Given the description of an element on the screen output the (x, y) to click on. 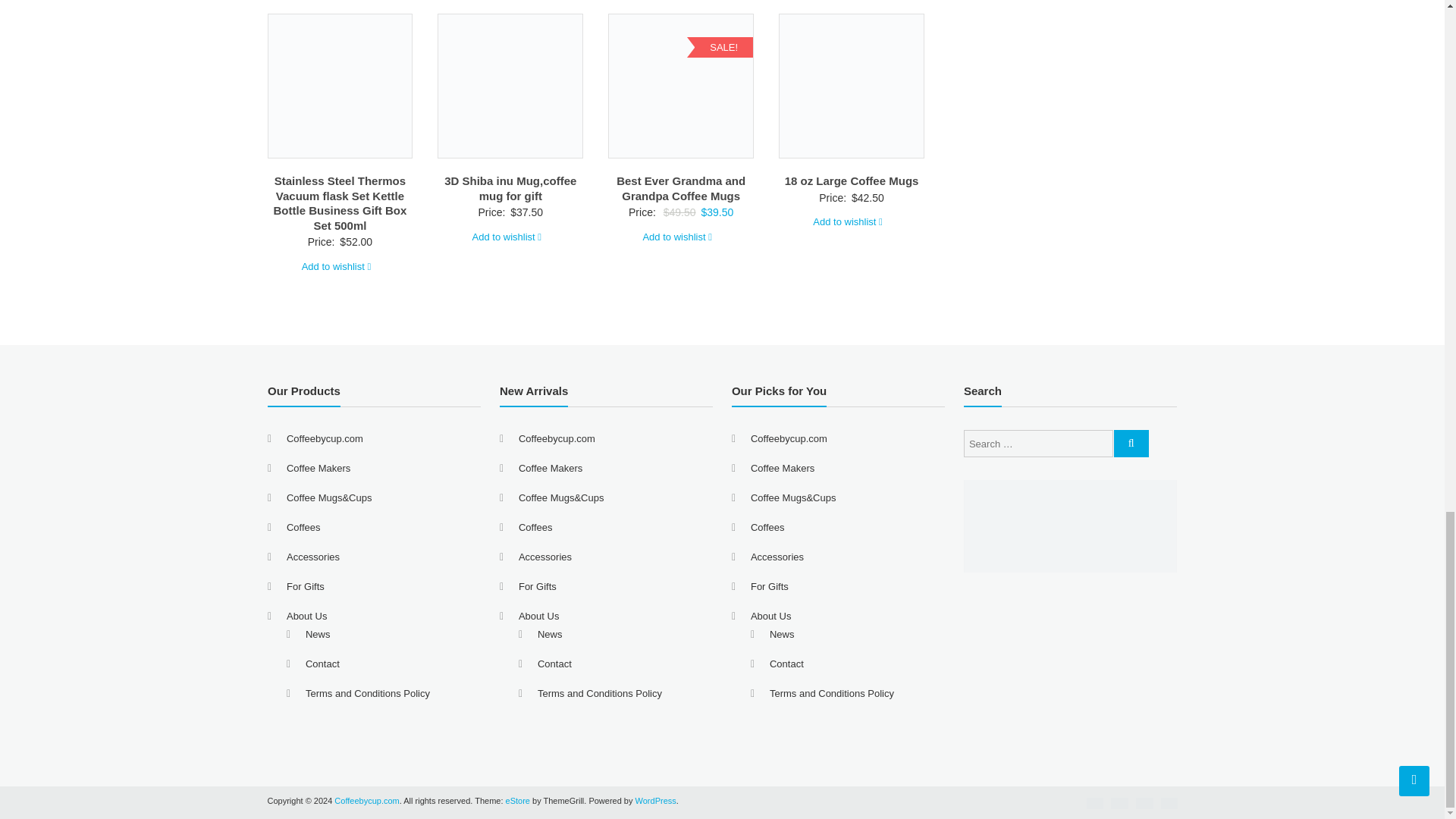
Coffeebycup.com (366, 800)
